Given the description of an element on the screen output the (x, y) to click on. 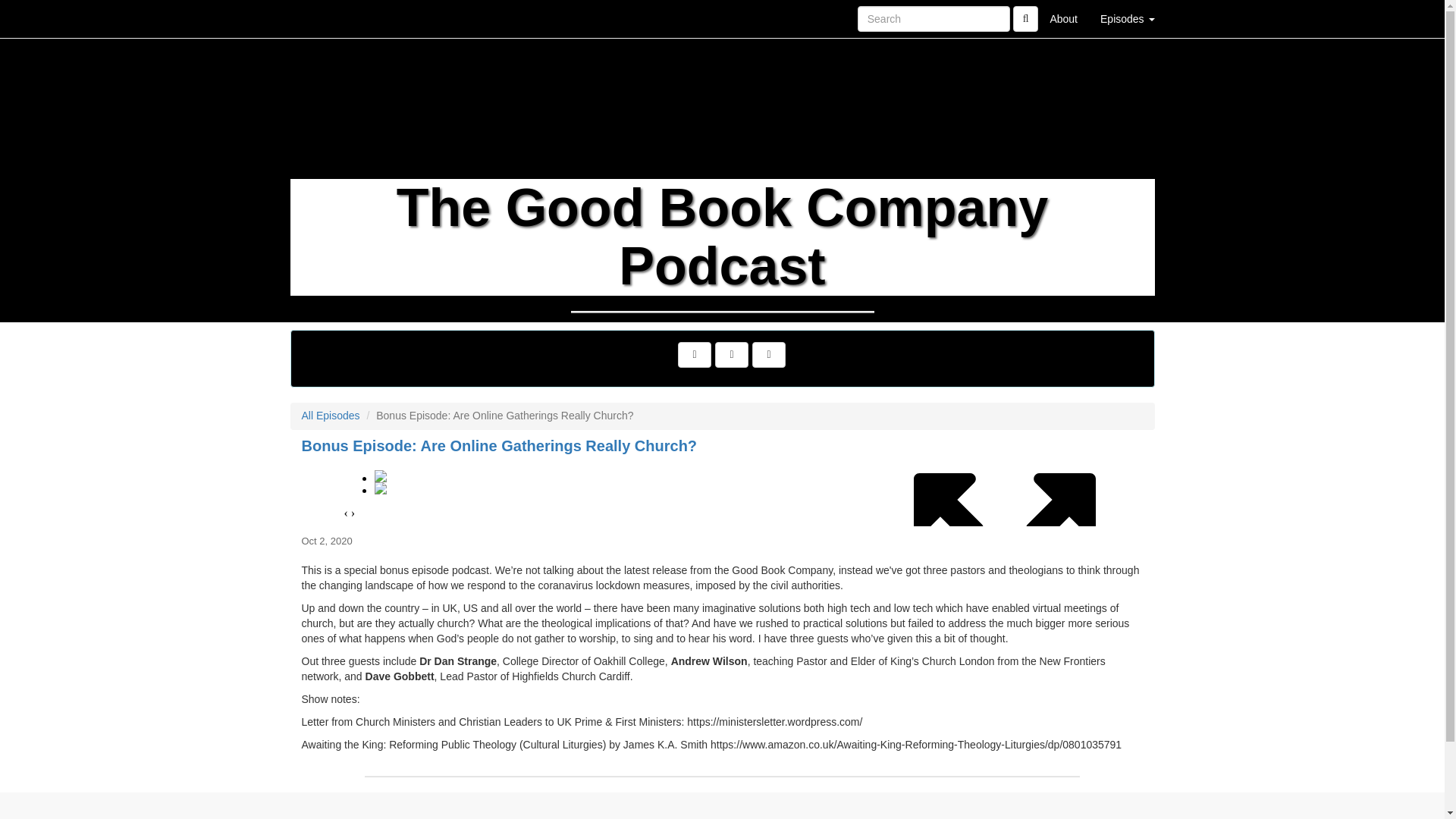
About (1063, 18)
Bonus Episode: Are Online Gatherings Really Church? (721, 491)
Home Page (320, 18)
Episodes (1127, 18)
